Given the description of an element on the screen output the (x, y) to click on. 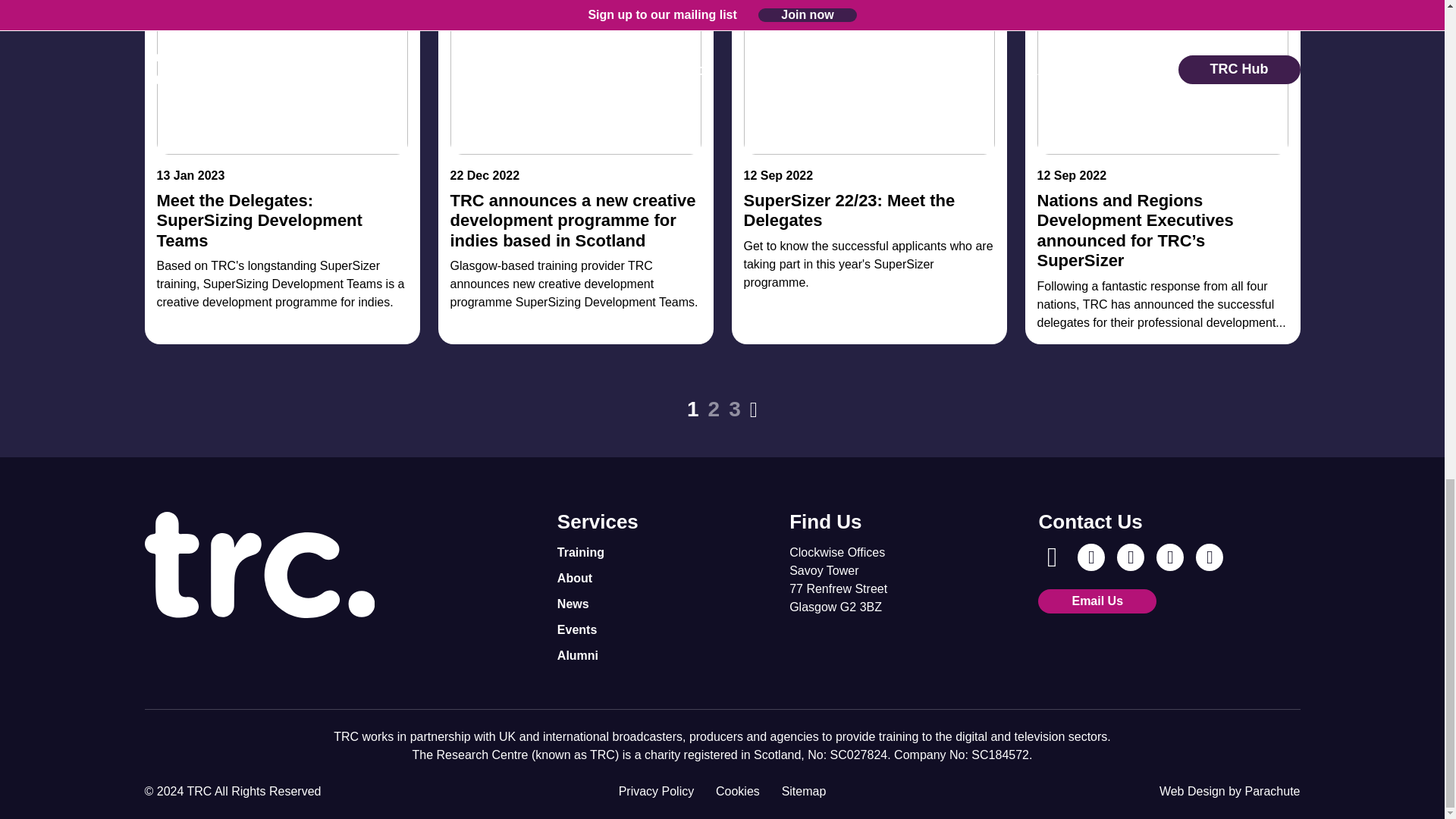
TRC Media Tiktok page (1209, 556)
TRC Media Twitter page (1169, 556)
TRC Media Instagram page (1091, 556)
TRC Media LinkedIn page (1130, 556)
TRC Media Facebook page (1051, 556)
